Given the description of an element on the screen output the (x, y) to click on. 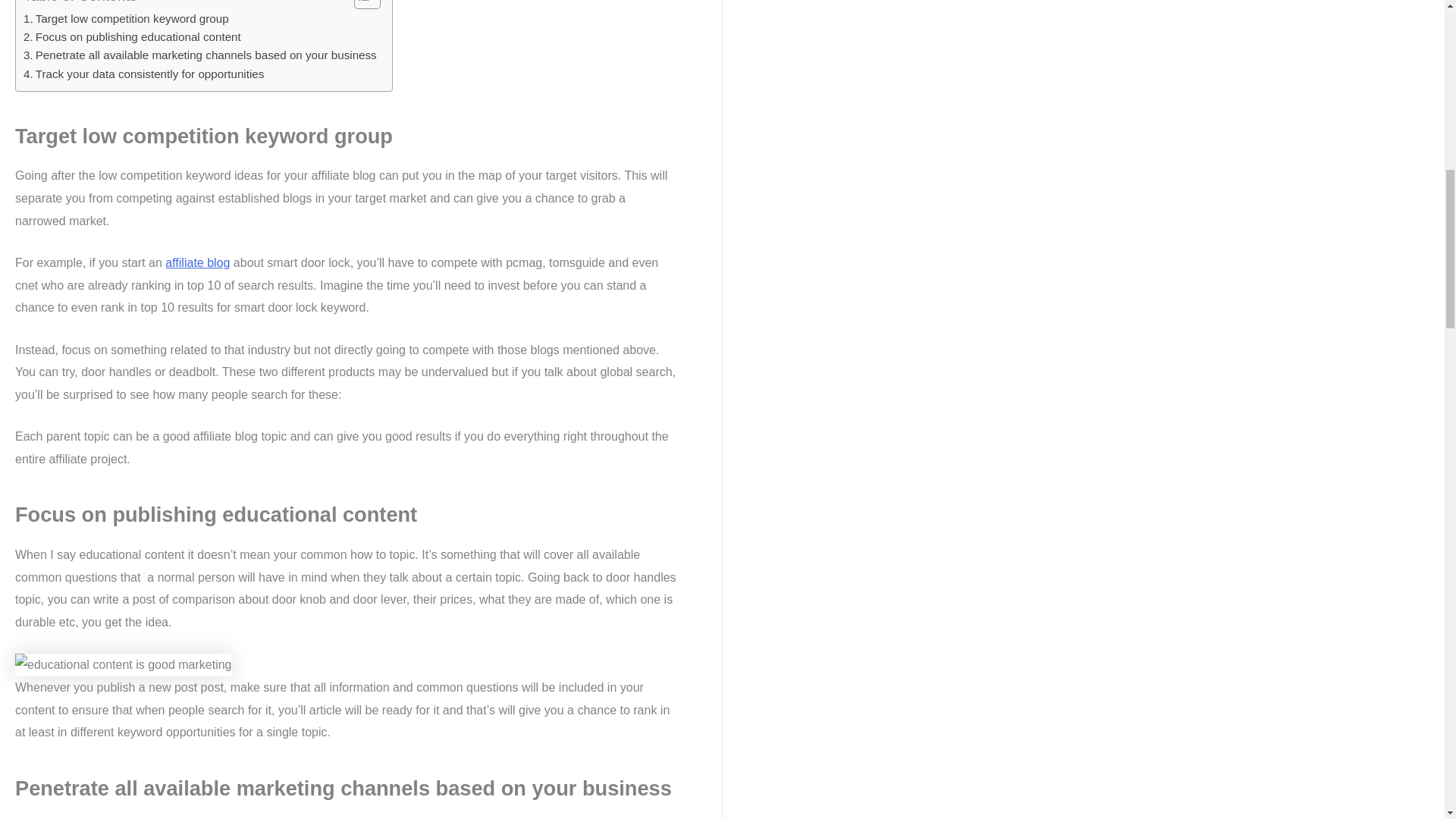
Target low competition keyword group (125, 18)
affiliate blog (197, 262)
Focus on publishing educational content (132, 36)
Focus on publishing educational content (132, 36)
Target low competition keyword group (125, 18)
Track your data consistently for opportunities (143, 74)
Track your data consistently for opportunities (143, 74)
